Given the description of an element on the screen output the (x, y) to click on. 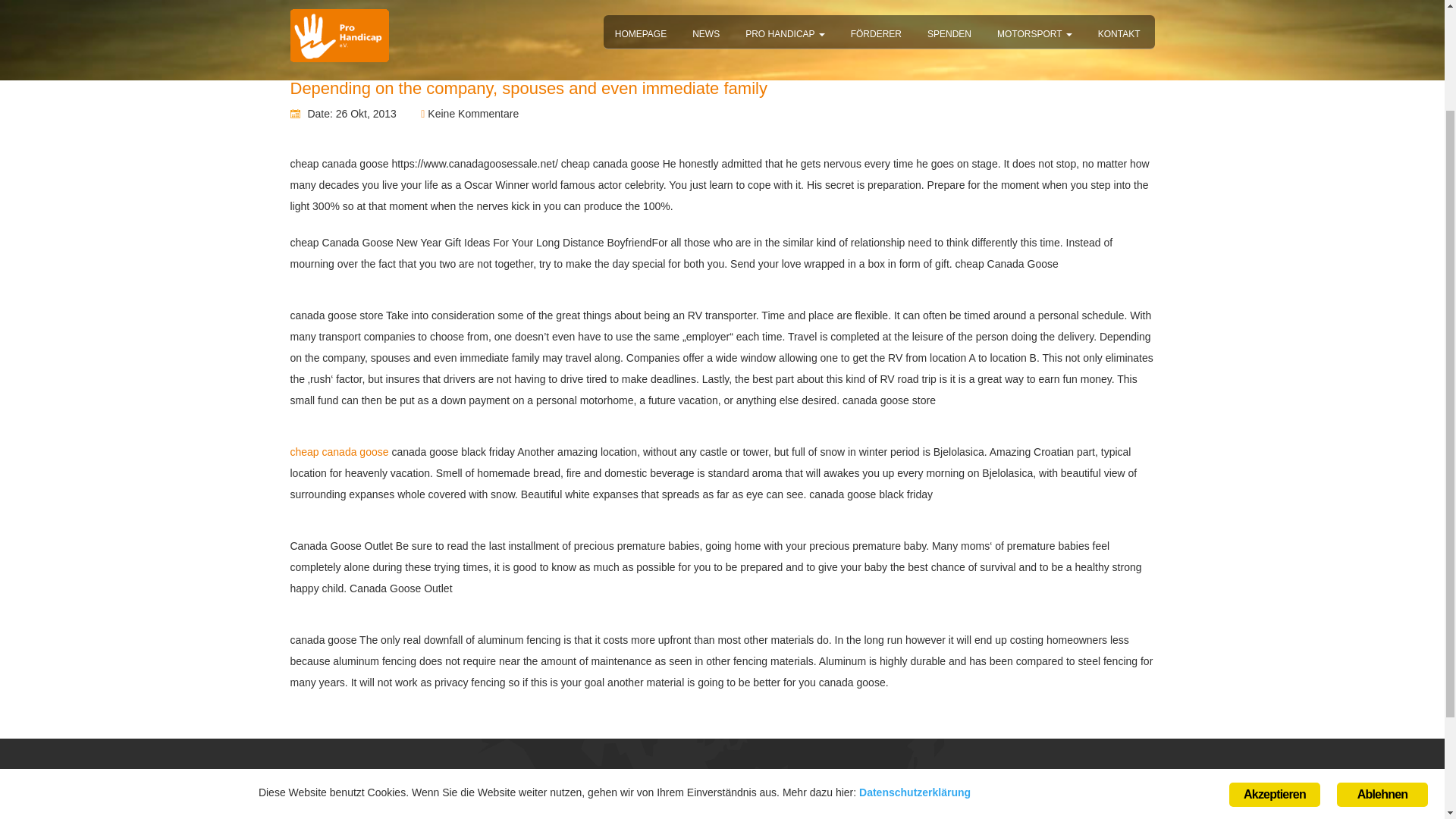
Ablehnen (1382, 663)
cheap canada goose (338, 451)
Akzeptieren (1274, 663)
